Given the description of an element on the screen output the (x, y) to click on. 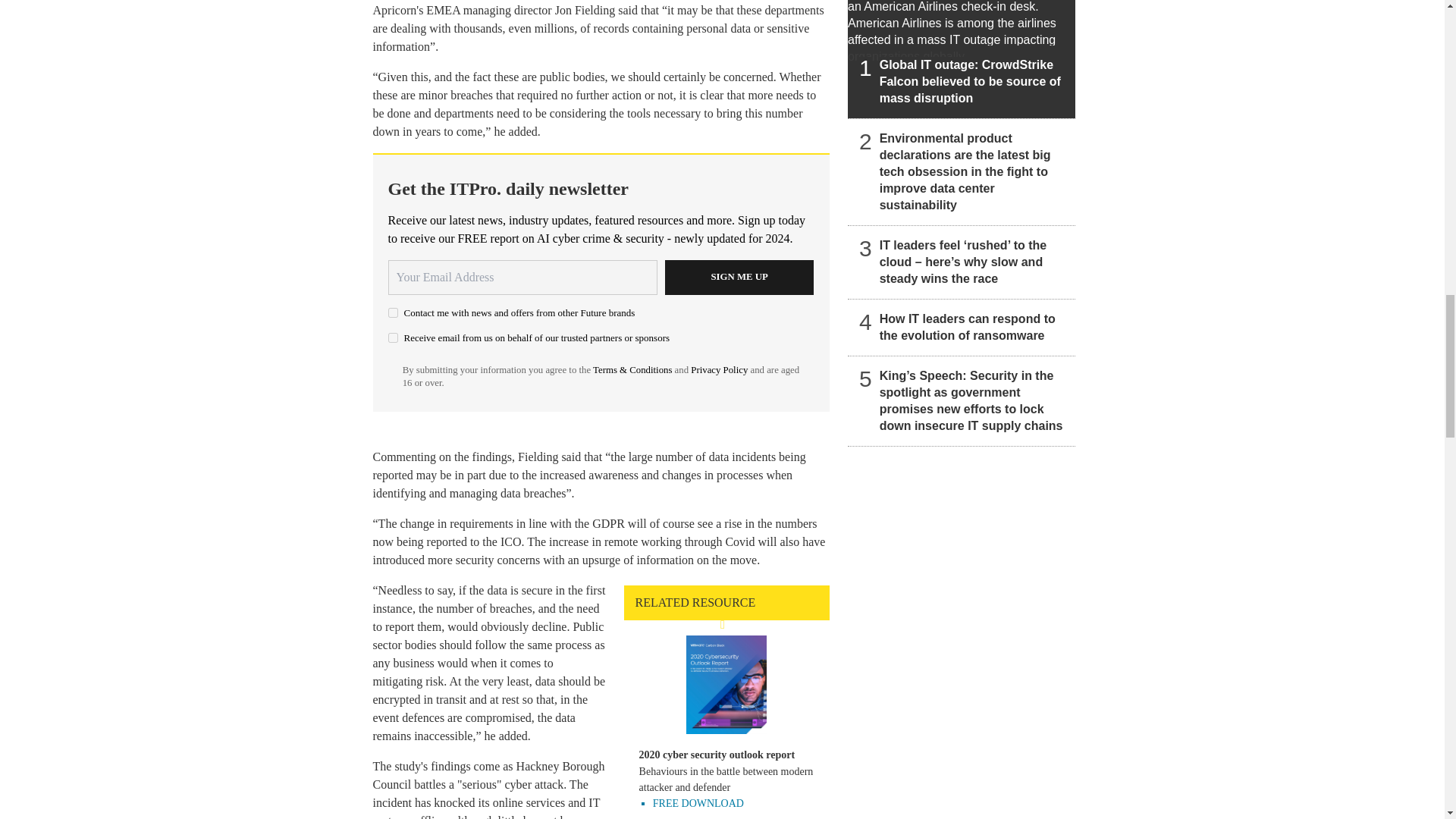
on (392, 312)
Sign me up (739, 277)
on (392, 337)
